Given the description of an element on the screen output the (x, y) to click on. 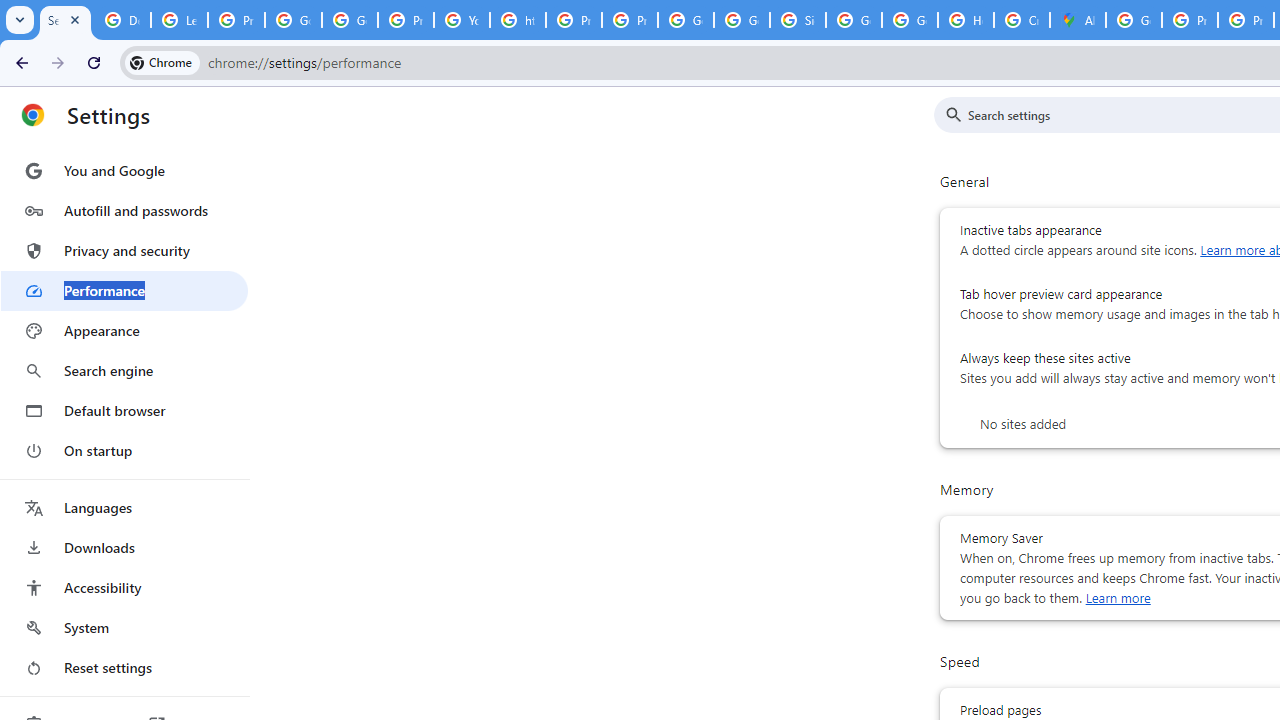
Downloads (124, 547)
Reset settings (124, 668)
Google Account Help (349, 20)
Default browser (124, 410)
Search engine (124, 370)
Google Account Help (293, 20)
YouTube (461, 20)
Autofill and passwords (124, 210)
